Given the description of an element on the screen output the (x, y) to click on. 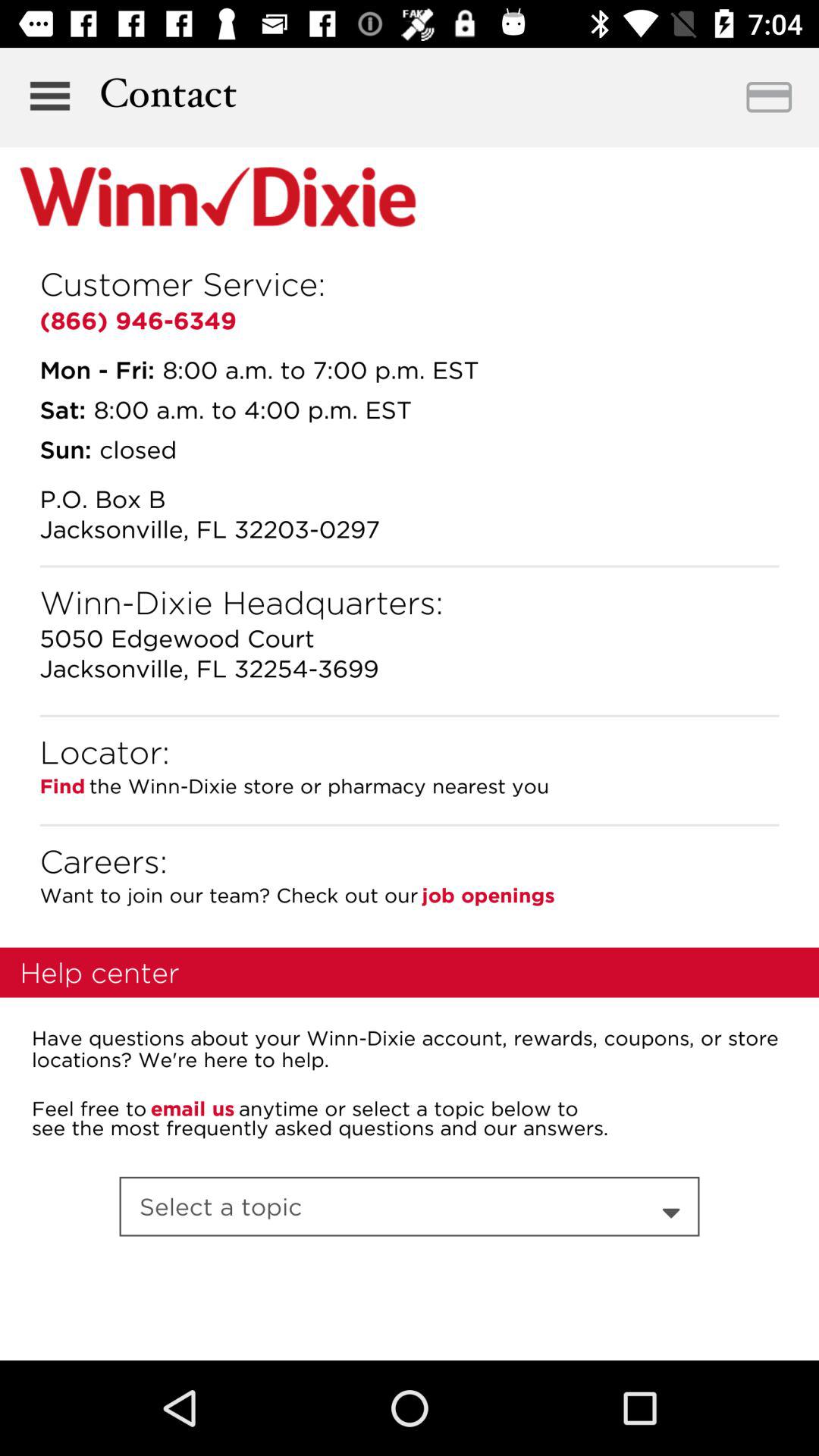
swipe to feel free to icon (88, 1108)
